Given the description of an element on the screen output the (x, y) to click on. 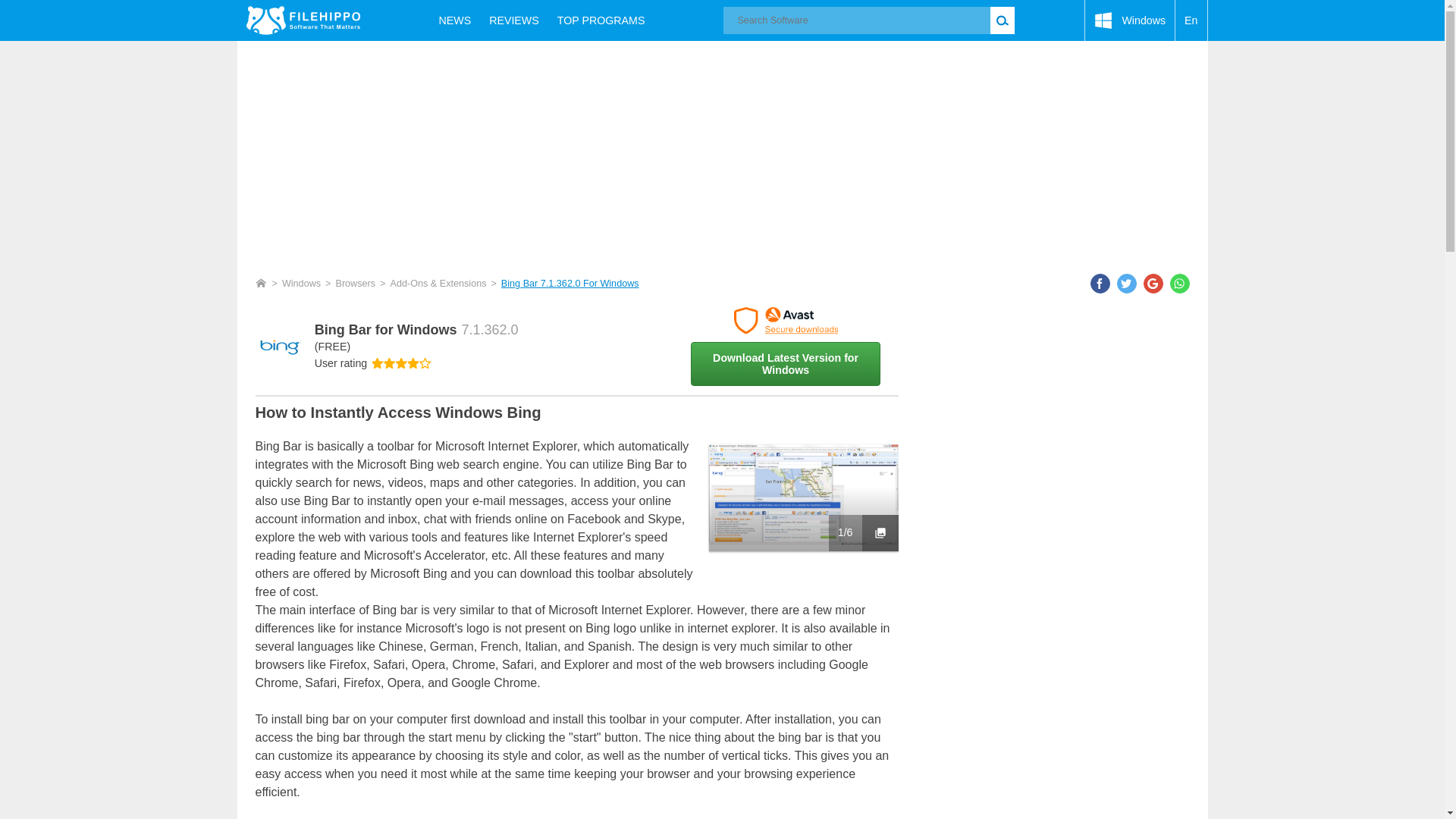
Windows (301, 283)
NEWS (454, 20)
News (454, 20)
TOP PROGRAMS (600, 20)
Top Programs (600, 20)
Windows (1129, 20)
Reviews (514, 20)
Windows (1129, 20)
Bing Bar 7.1.362.0 For Windows (569, 283)
Filehippo (302, 20)
REVIEWS (514, 20)
Browsers (354, 283)
